Given the description of an element on the screen output the (x, y) to click on. 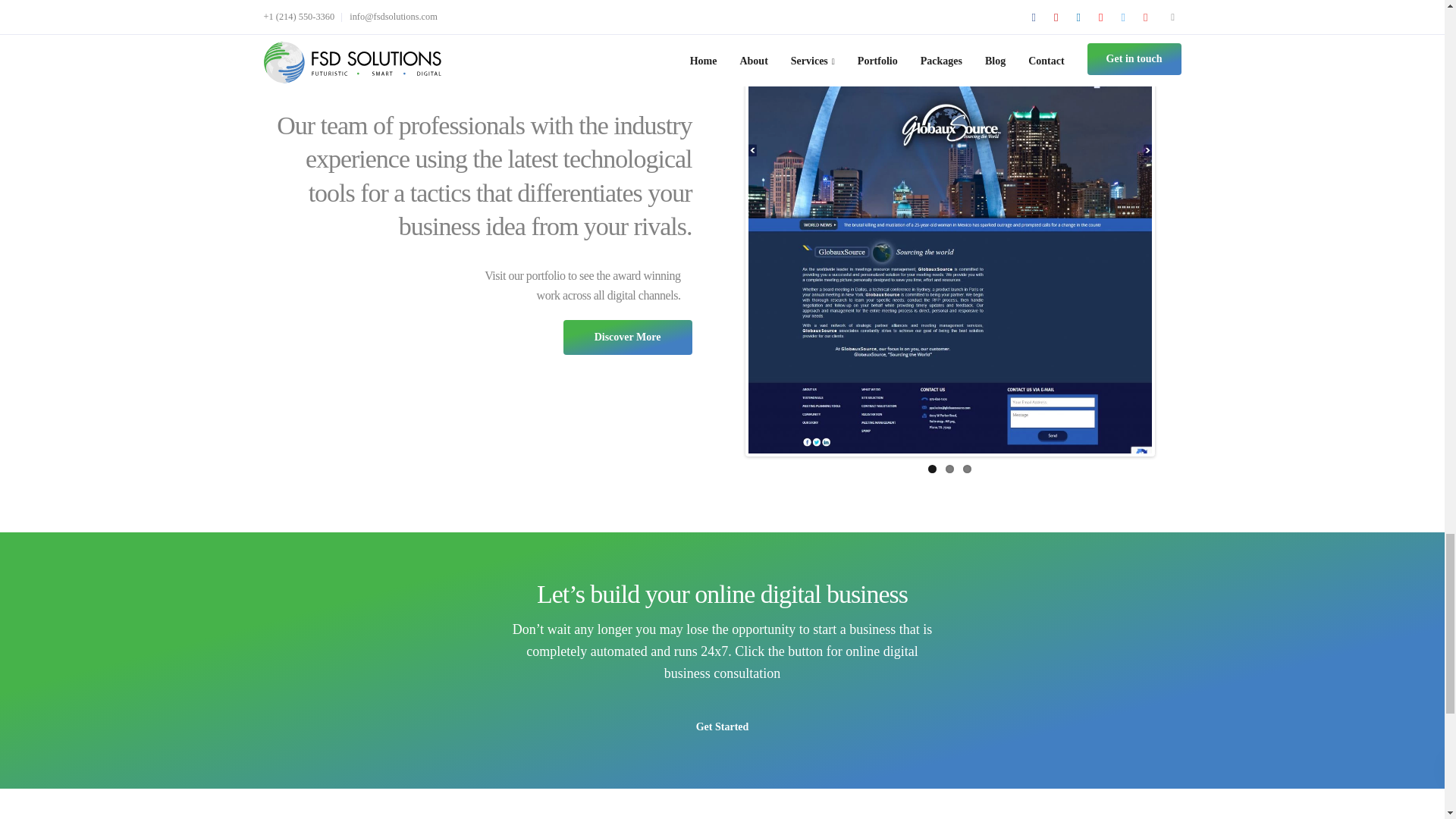
3 (966, 469)
Discover More (626, 337)
1 (932, 469)
2 (948, 469)
Get Started (721, 726)
